Given the description of an element on the screen output the (x, y) to click on. 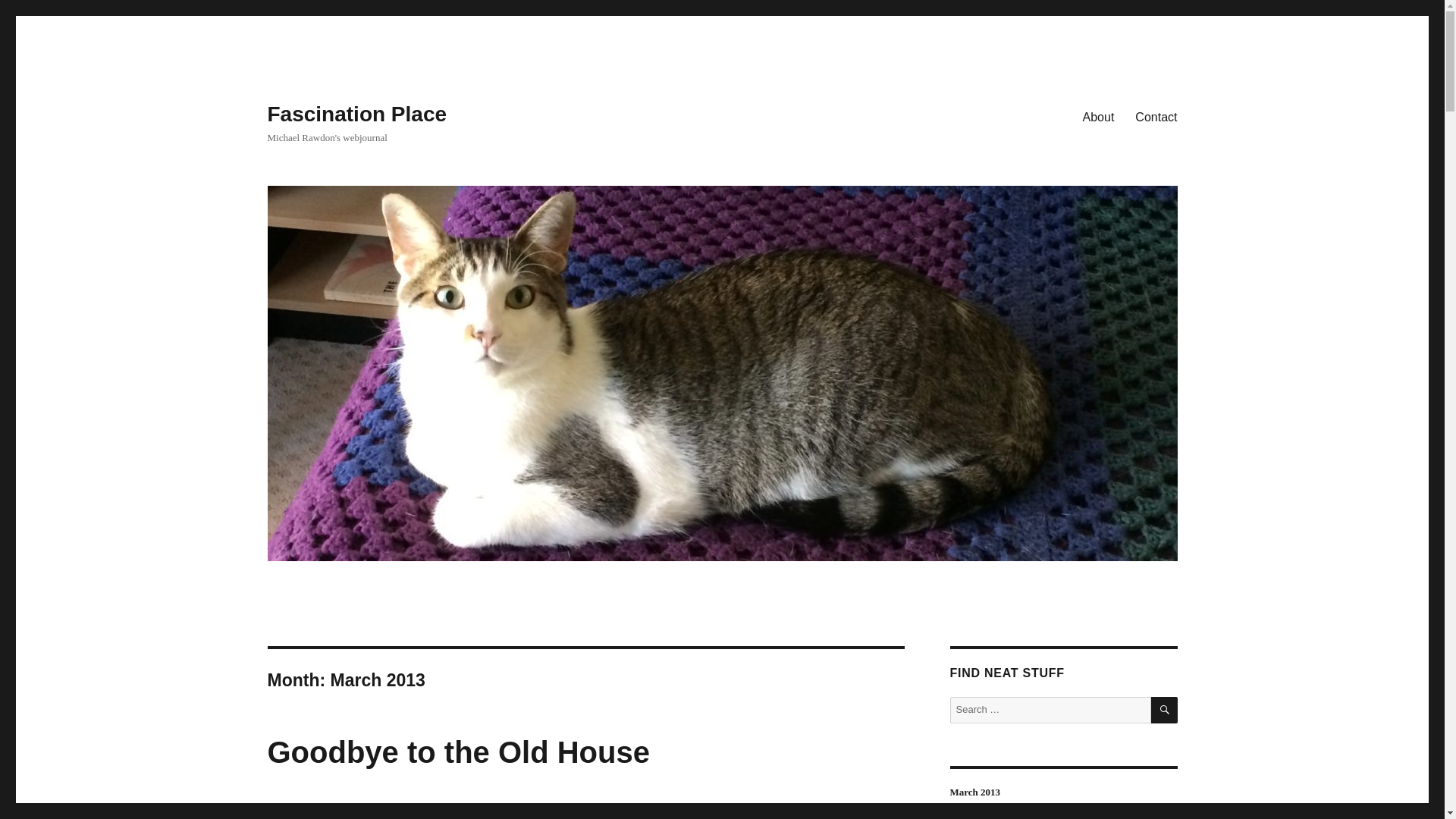
SEARCH (1164, 709)
Fascination Place (356, 114)
Contact (1156, 116)
About (1098, 116)
31 March 2013 (299, 811)
Goodbye to the Old House (457, 752)
